Given the description of an element on the screen output the (x, y) to click on. 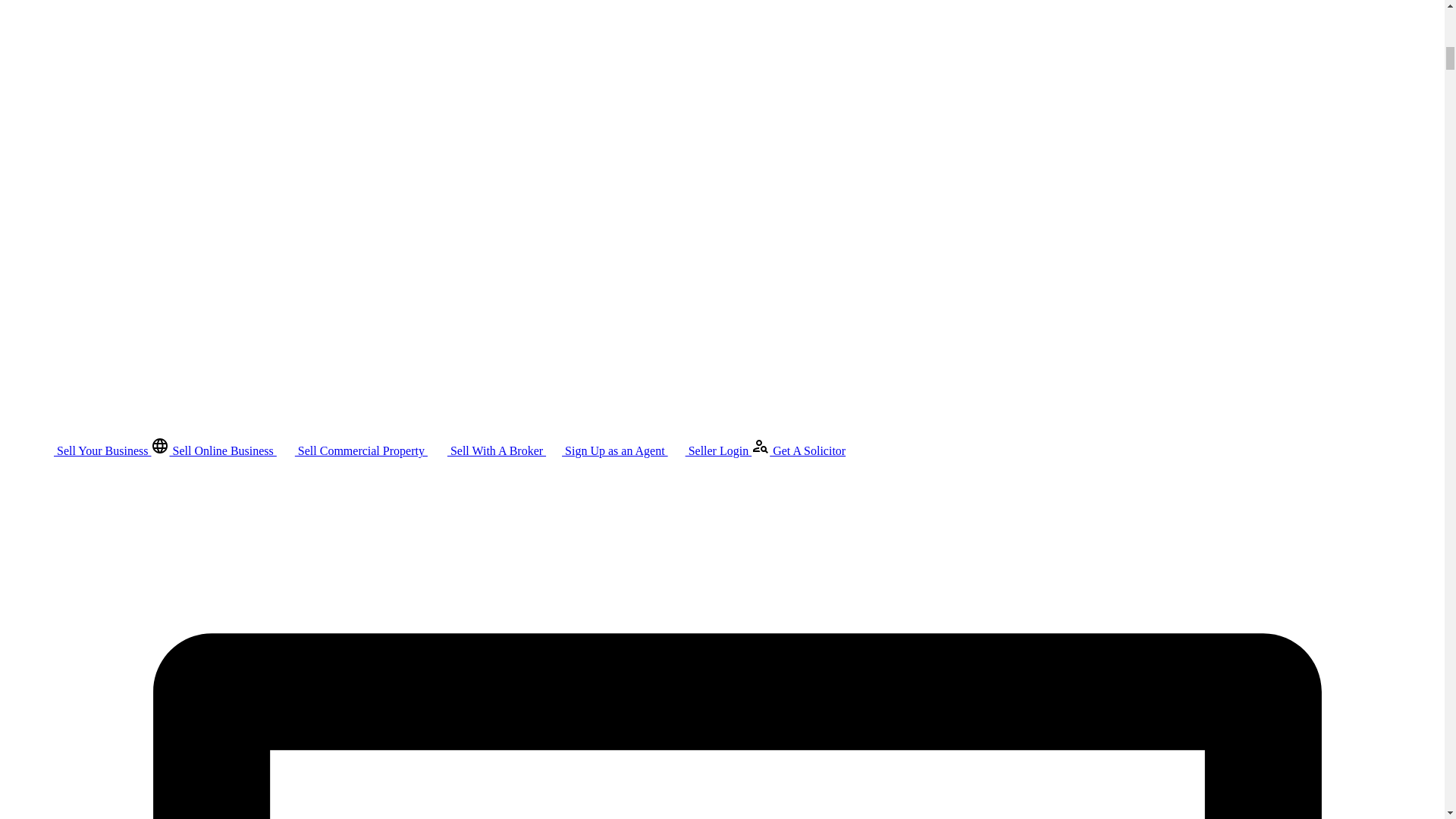
Sell Commercial Property (352, 450)
Seller Login (710, 450)
Sell With A Broker (487, 450)
Get A Solicitor (798, 450)
Sell Online Business (213, 450)
Sign Up as an Agent (607, 450)
Sell Your Business (93, 450)
